Given the description of an element on the screen output the (x, y) to click on. 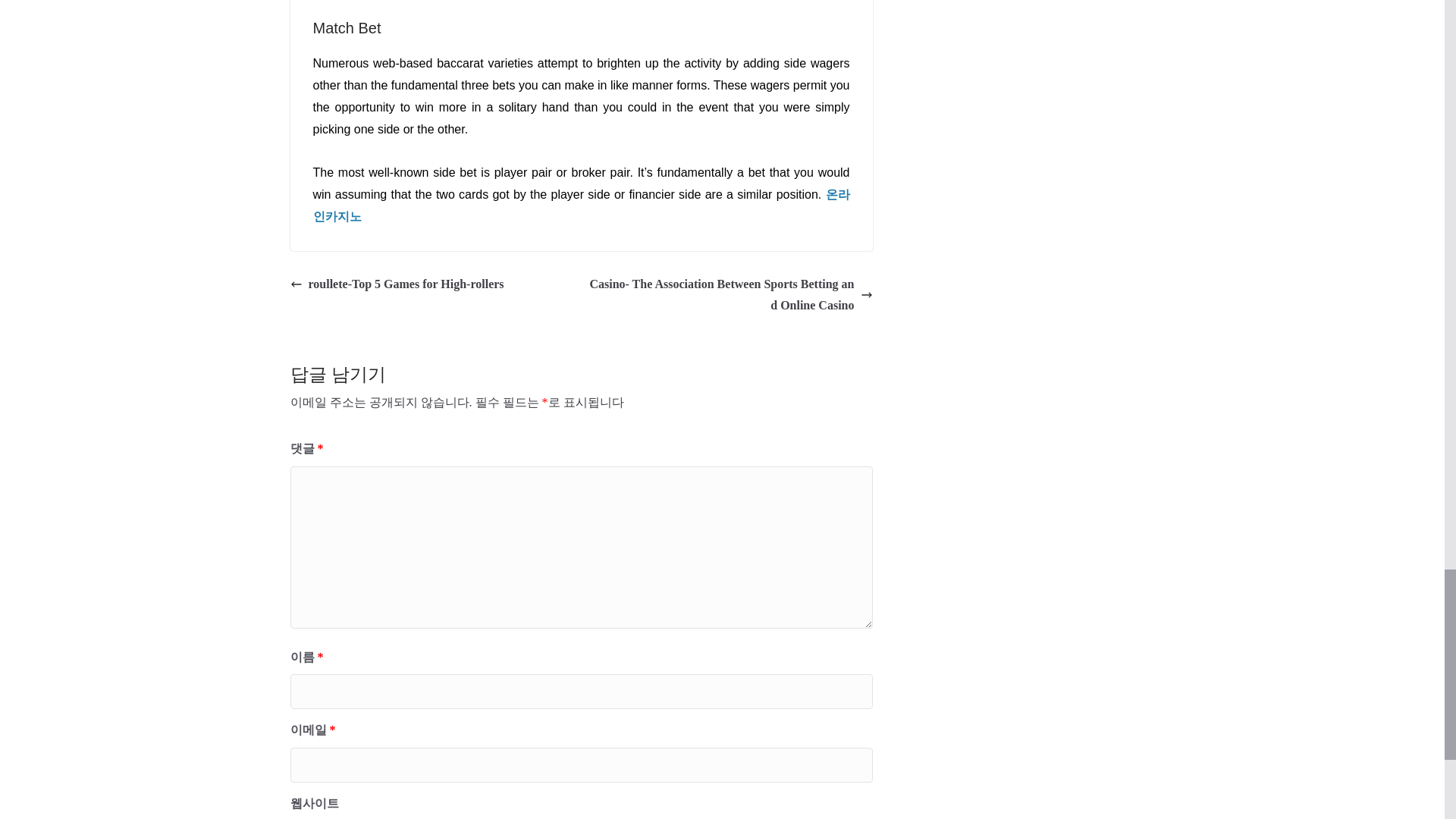
roullete-Top 5 Games for High-rollers (396, 284)
